Given the description of an element on the screen output the (x, y) to click on. 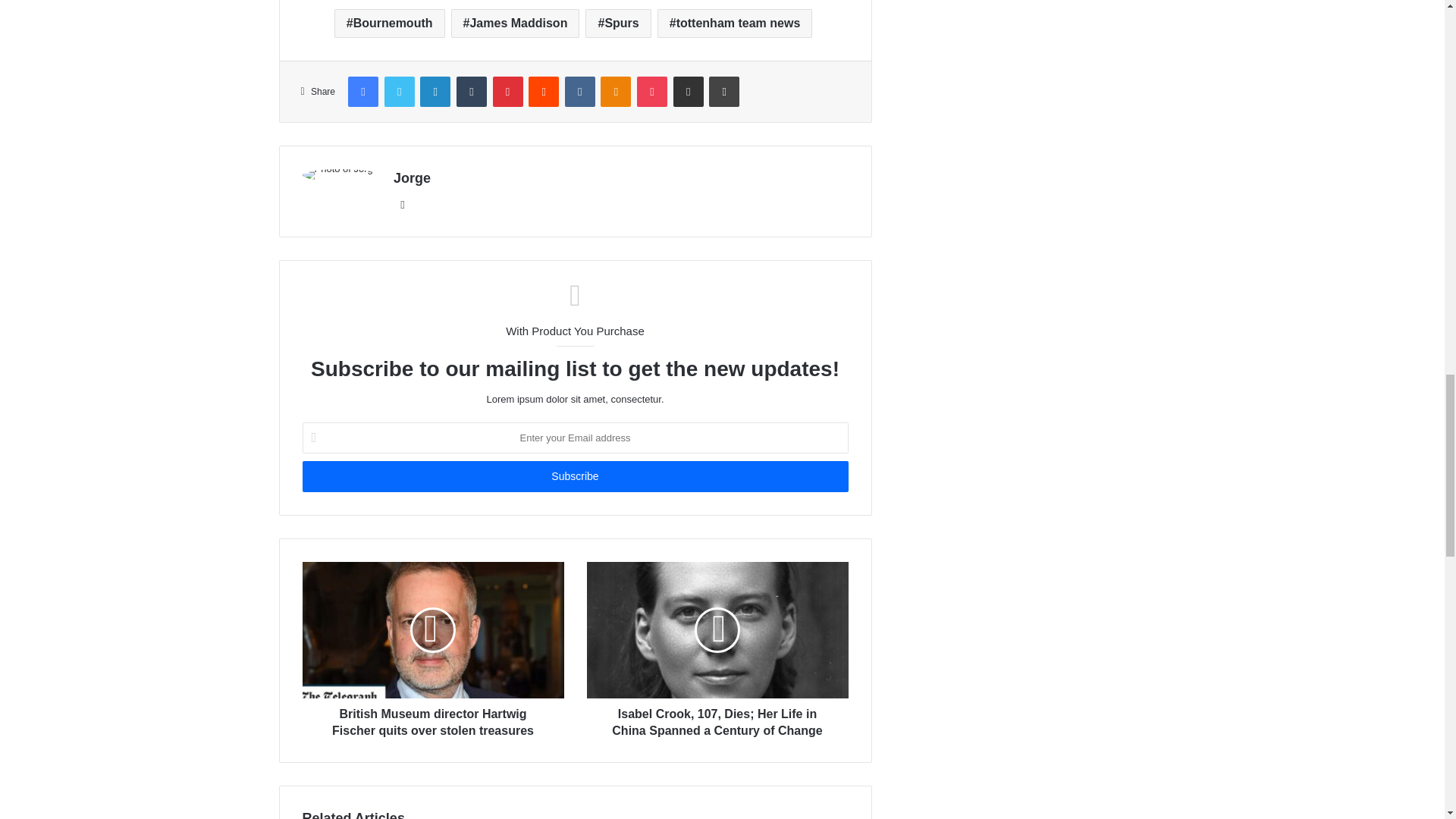
Subscribe (574, 476)
Bournemouth (389, 23)
Spurs (617, 23)
James Maddison (515, 23)
